Given the description of an element on the screen output the (x, y) to click on. 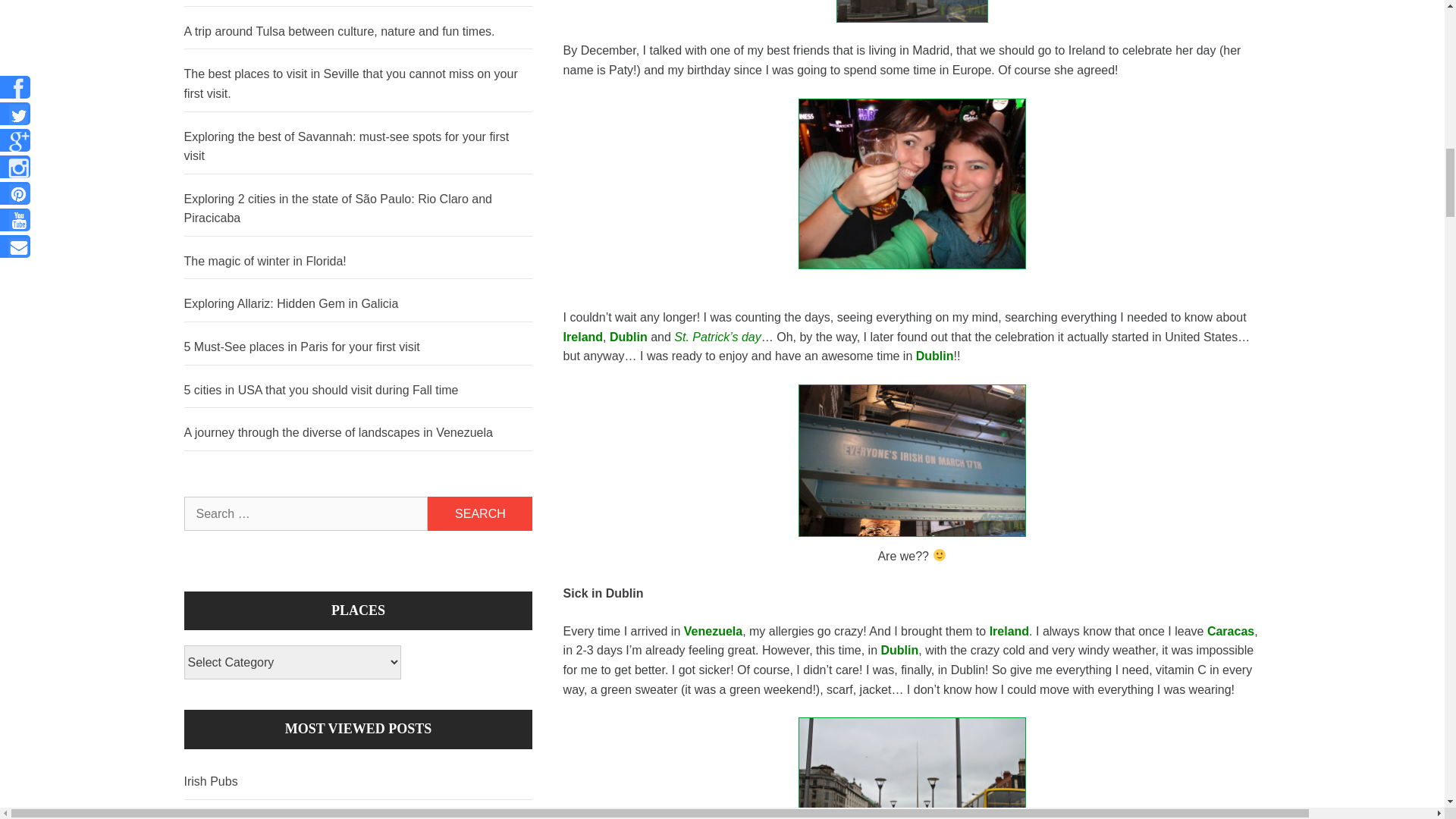
Search (480, 513)
Search (480, 513)
